Given the description of an element on the screen output the (x, y) to click on. 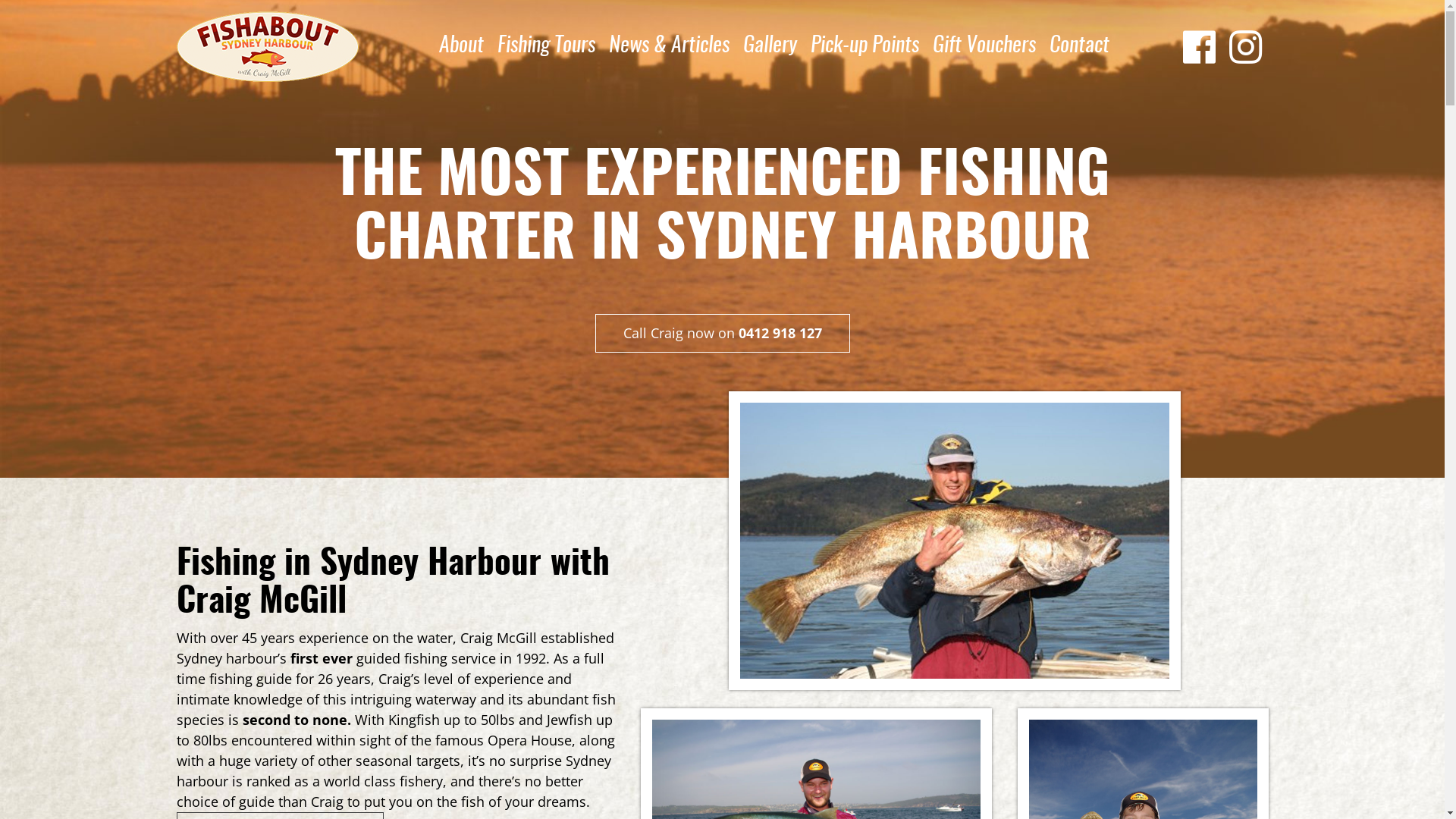
Gallery Element type: text (769, 46)
Pick-up Points Element type: text (864, 46)
Gift Vouchers Element type: text (983, 46)
Call Craig now on 0412 918 127 Element type: text (721, 333)
Fishing Tours Element type: text (545, 46)
Instagram Element type: text (1244, 46)
Contact Element type: text (1078, 46)
About Element type: text (461, 46)
News & Articles Element type: text (669, 46)
Facebook Element type: text (1199, 46)
